Given the description of an element on the screen output the (x, y) to click on. 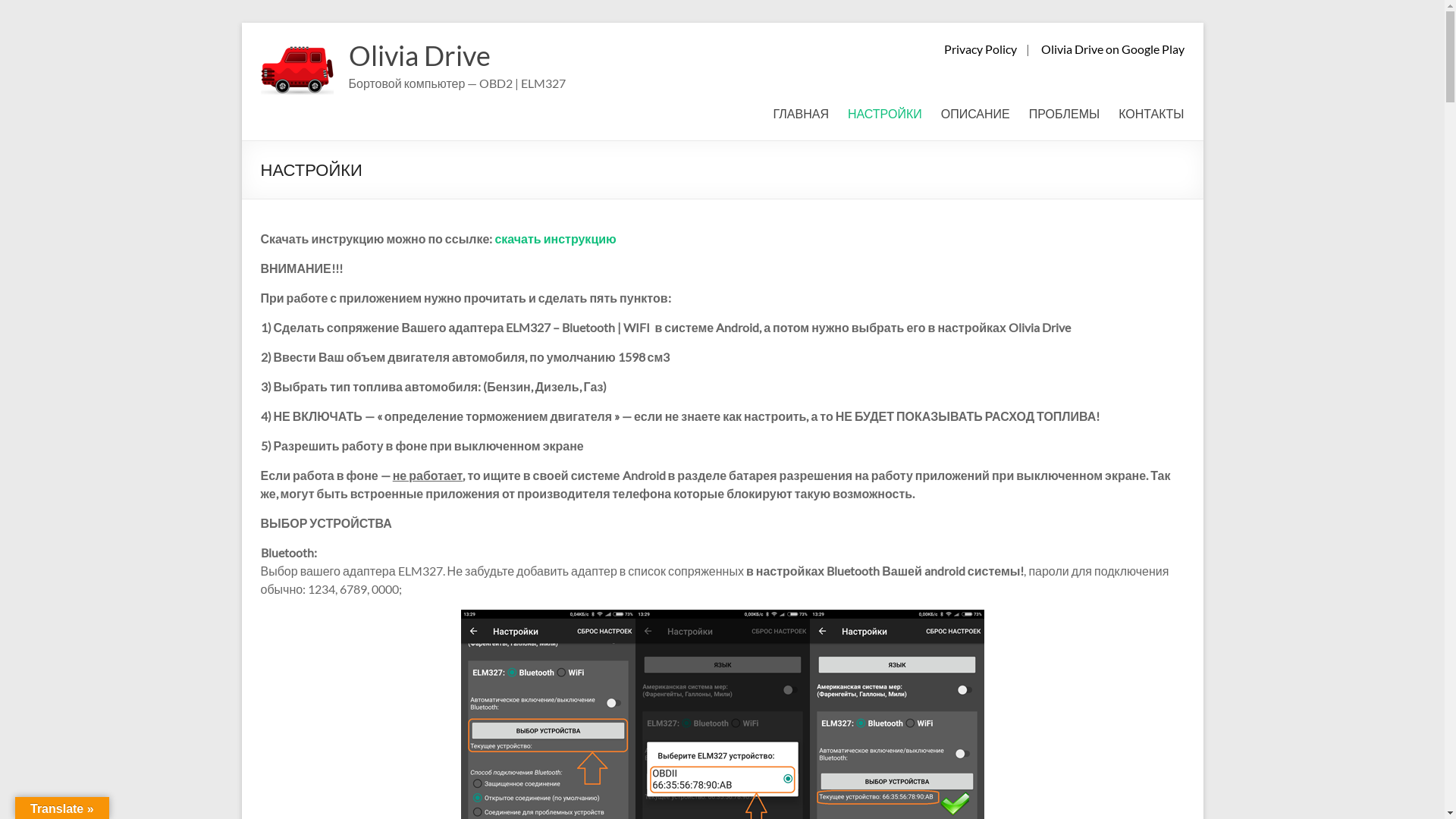
Privacy Policy Element type: text (979, 48)
Olivia Drive on Google Play Element type: text (1111, 48)
Olivia Drive Element type: text (419, 55)
